Given the description of an element on the screen output the (x, y) to click on. 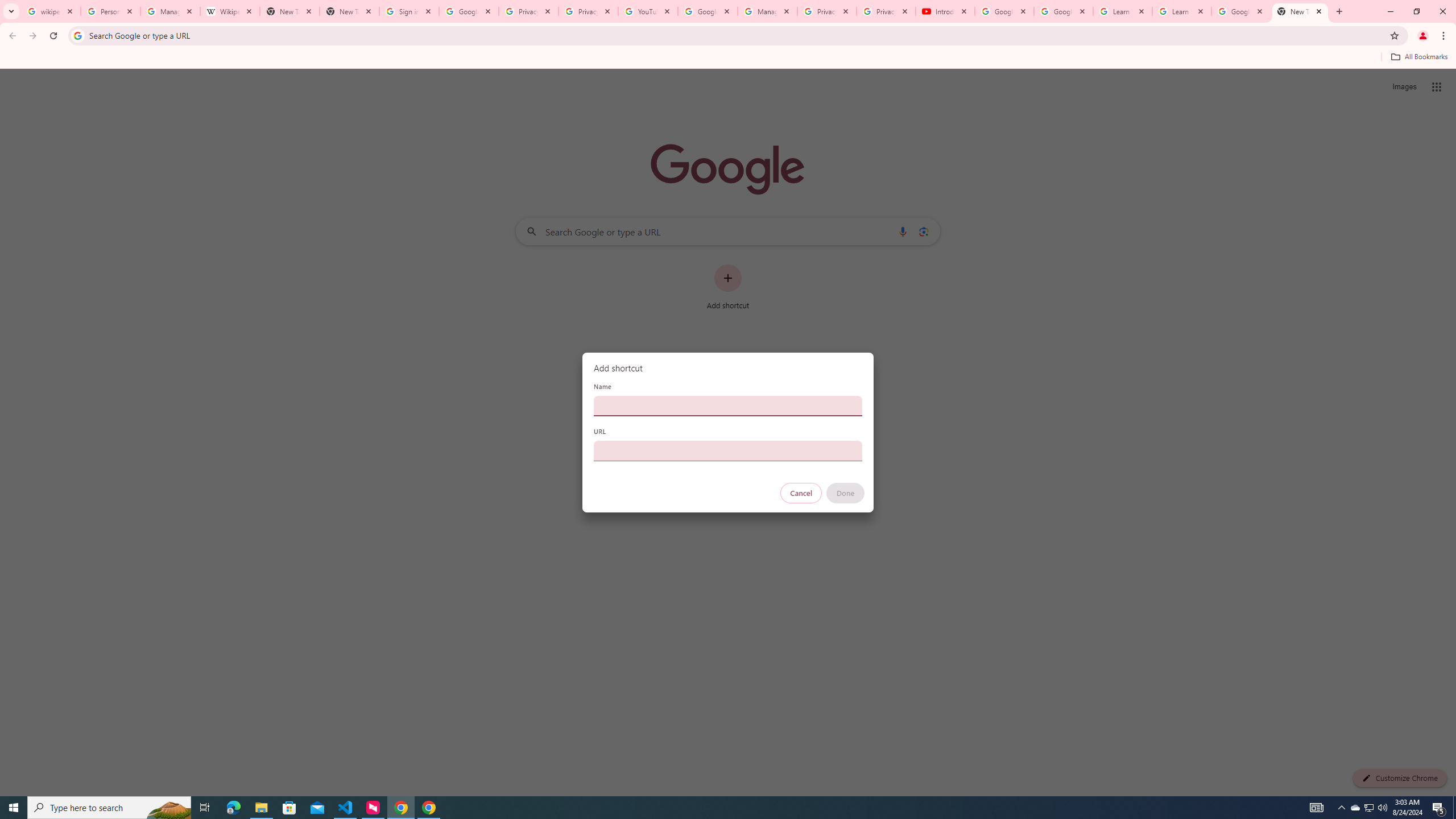
Done (845, 493)
Name (727, 405)
Google Account Help (707, 11)
Personalization & Google Search results - Google Search Help (110, 11)
